Given the description of an element on the screen output the (x, y) to click on. 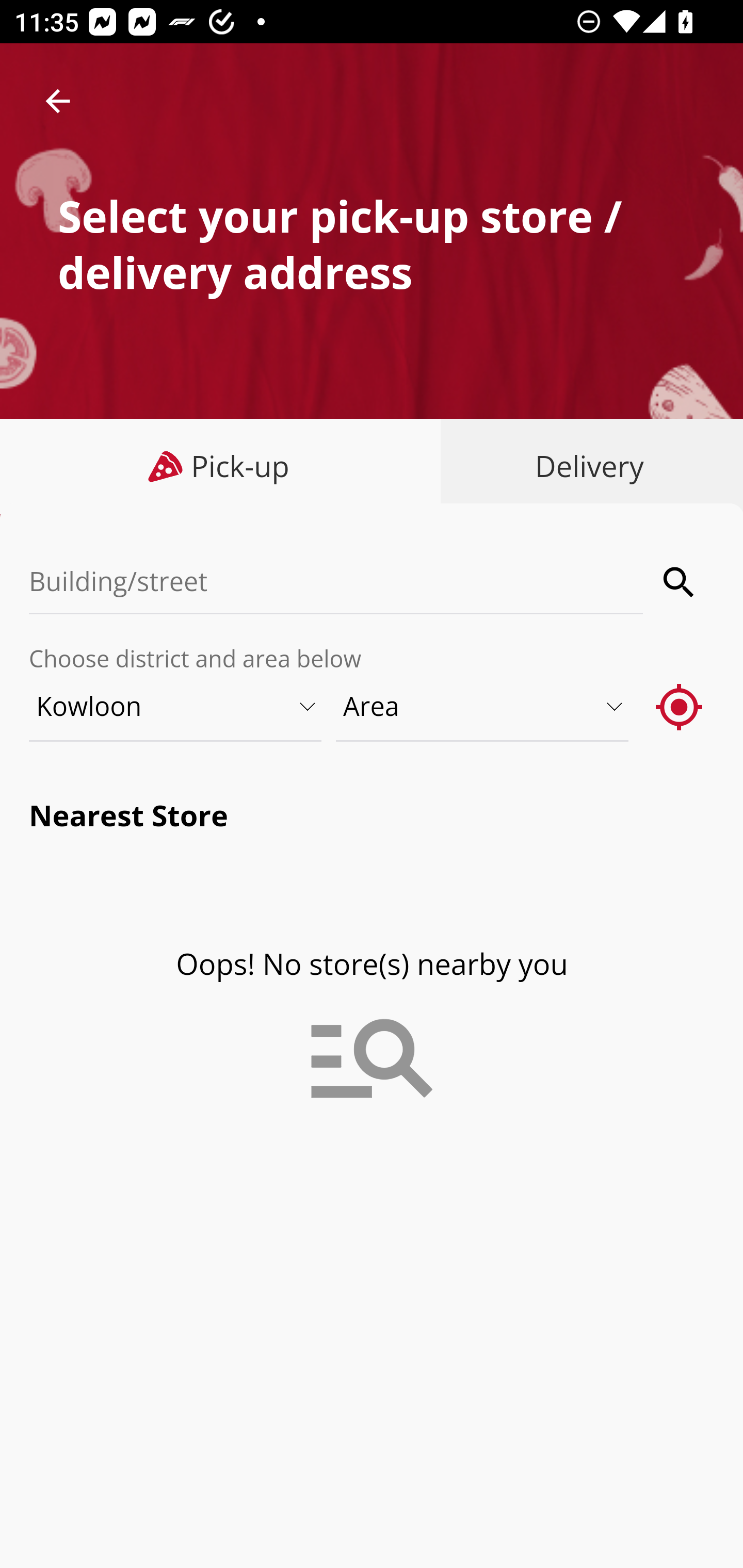
arrow_back (58, 100)
prev next Pick-up Delivery (371, 467)
Delivery (585, 466)
search (679, 582)
gps_fixed (679, 706)
Kowloon (175, 706)
Area (482, 706)
